Given the description of an element on the screen output the (x, y) to click on. 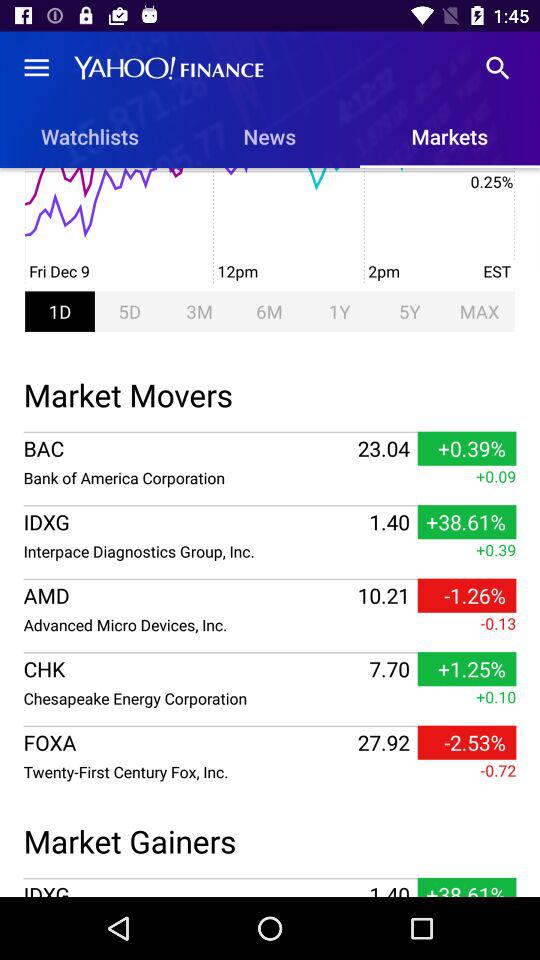
launch the icon below 1d (270, 391)
